Given the description of an element on the screen output the (x, y) to click on. 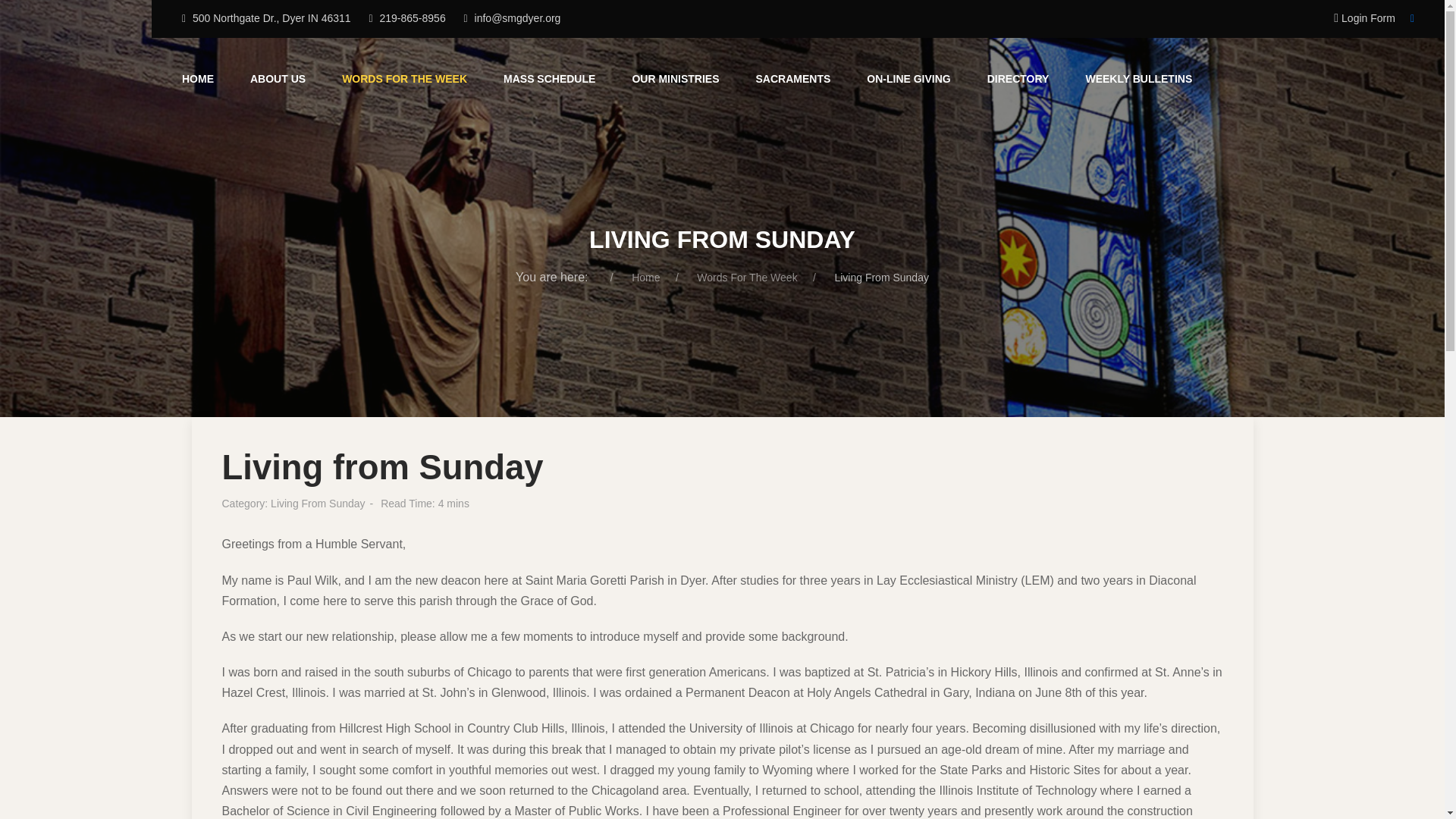
WORDS FOR THE WEEK (403, 79)
OUR MINISTRIES (674, 79)
219-865-8956 (411, 18)
MASS SCHEDULE (548, 79)
ABOUT US (277, 79)
Login Form (1363, 18)
